Given the description of an element on the screen output the (x, y) to click on. 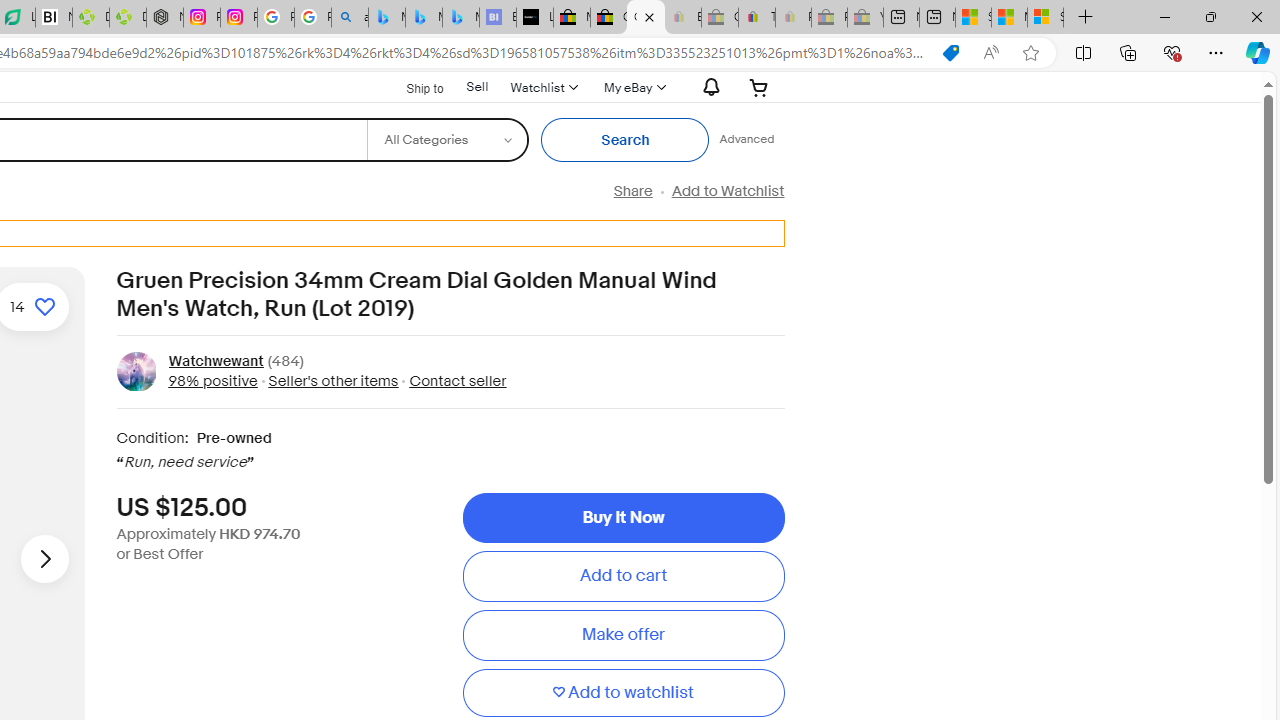
Microsoft Bing Travel - Shangri-La Hotel Bangkok (460, 17)
Payments Terms of Use | eBay.com - Sleeping (793, 17)
Threats and offensive language policy | eBay (756, 17)
Add to cart (623, 576)
Select a category for search (447, 139)
Ship to (412, 88)
Contact seller (457, 380)
Yard, Garden & Outdoor Living - Sleeping (865, 17)
Press Room - eBay Inc. - Sleeping (829, 17)
Make offer (623, 635)
Nordace - Nordace Edin Collection (165, 17)
Watchwewant (215, 361)
Your shopping cart (759, 87)
